Given the description of an element on the screen output the (x, y) to click on. 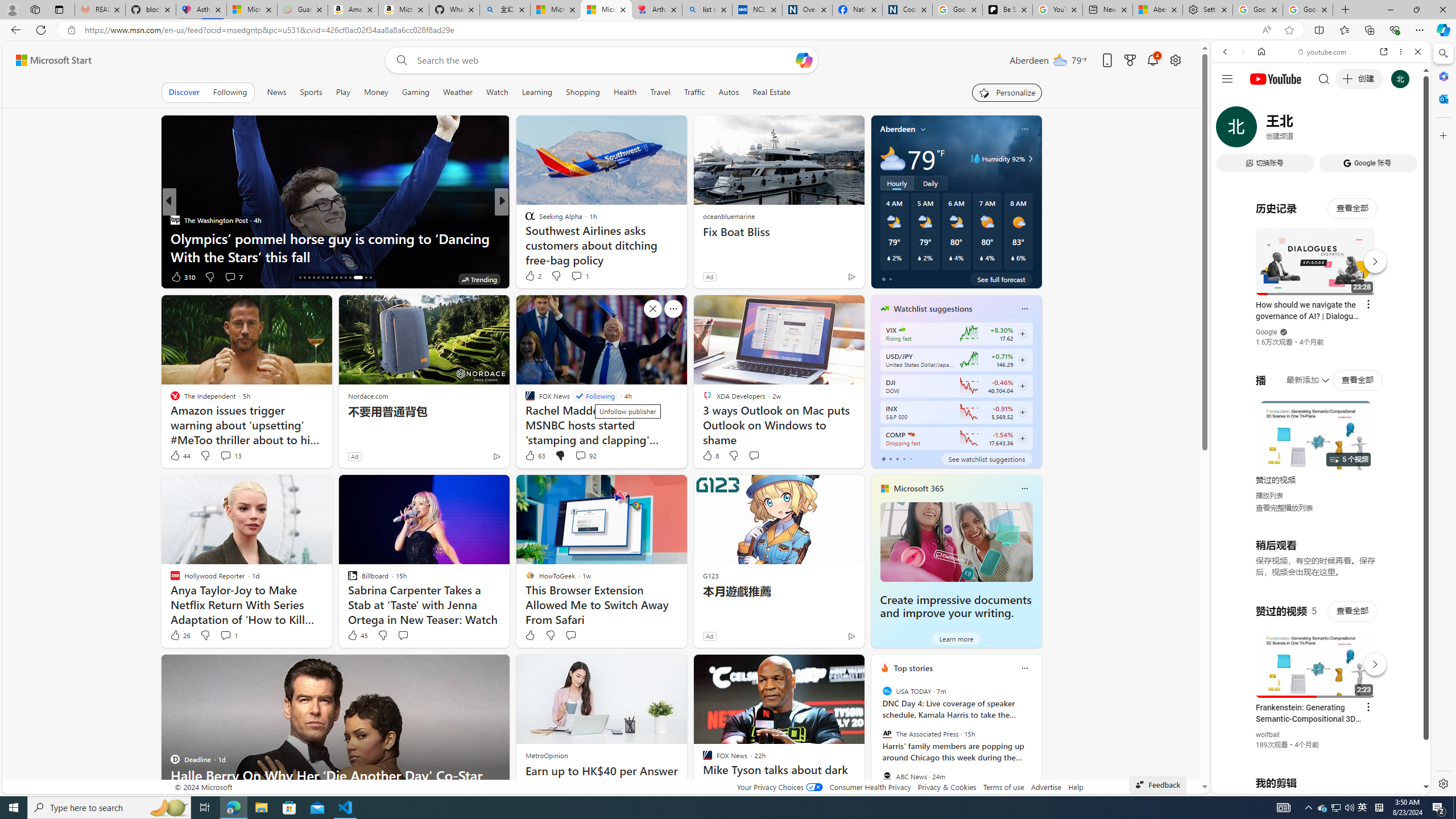
tab-2 (897, 458)
AutomationID: tab-19 (313, 277)
More options (1401, 51)
Help (1075, 786)
Music (1320, 309)
Health (624, 92)
Microsoft rewards (1129, 60)
NCL Adult Asthma Inhaler Choice Guideline (757, 9)
AutomationID: tab-25 (340, 277)
